Given the description of an element on the screen output the (x, y) to click on. 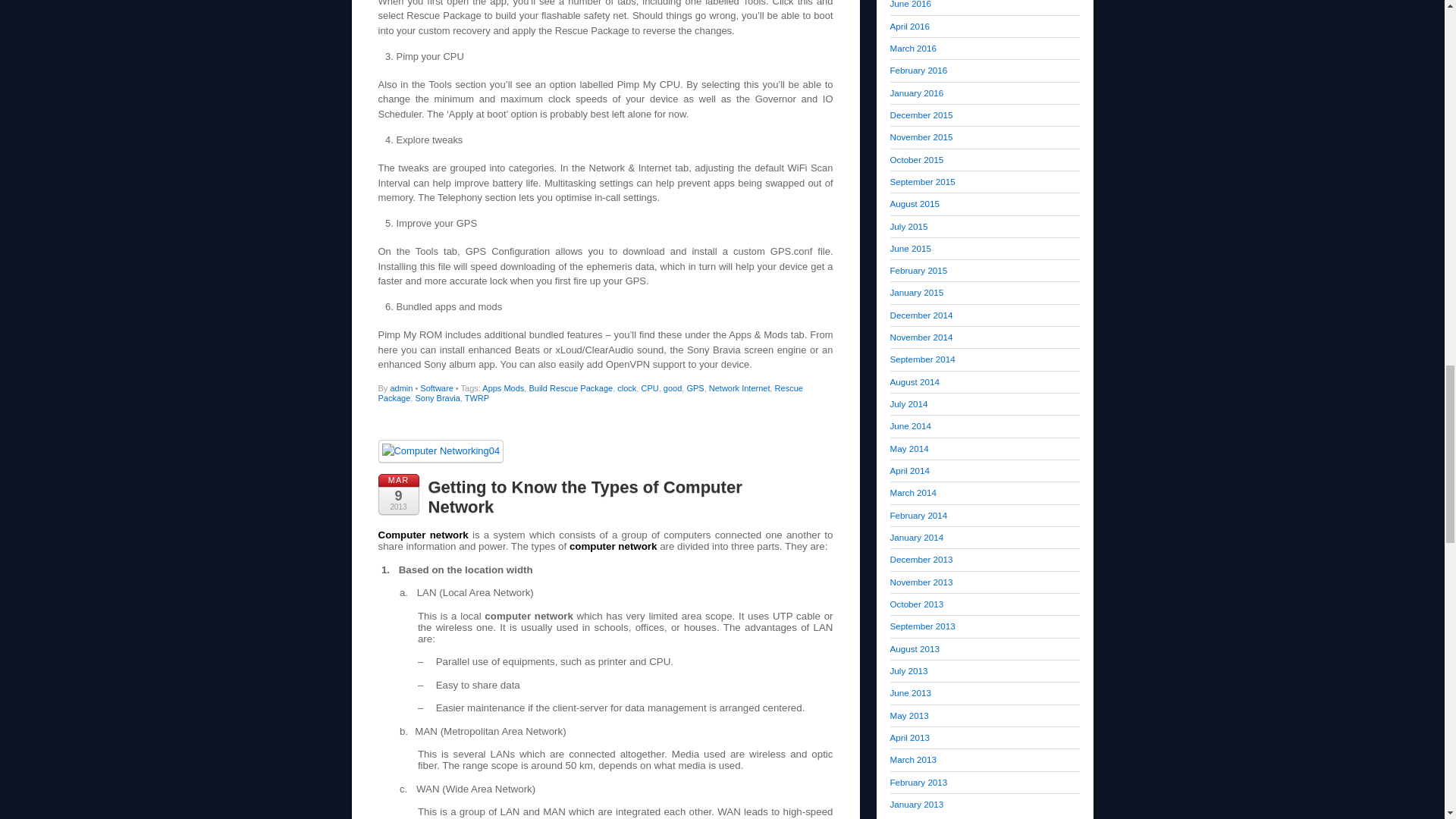
Apps Mods (502, 388)
Sony Bravia (437, 397)
admin (401, 388)
clock (626, 388)
TWRP (476, 397)
Getting to Know the Types of Computer Network (584, 496)
Software (436, 388)
GPS (694, 388)
Network Internet (739, 388)
good (672, 388)
